Given the description of an element on the screen output the (x, y) to click on. 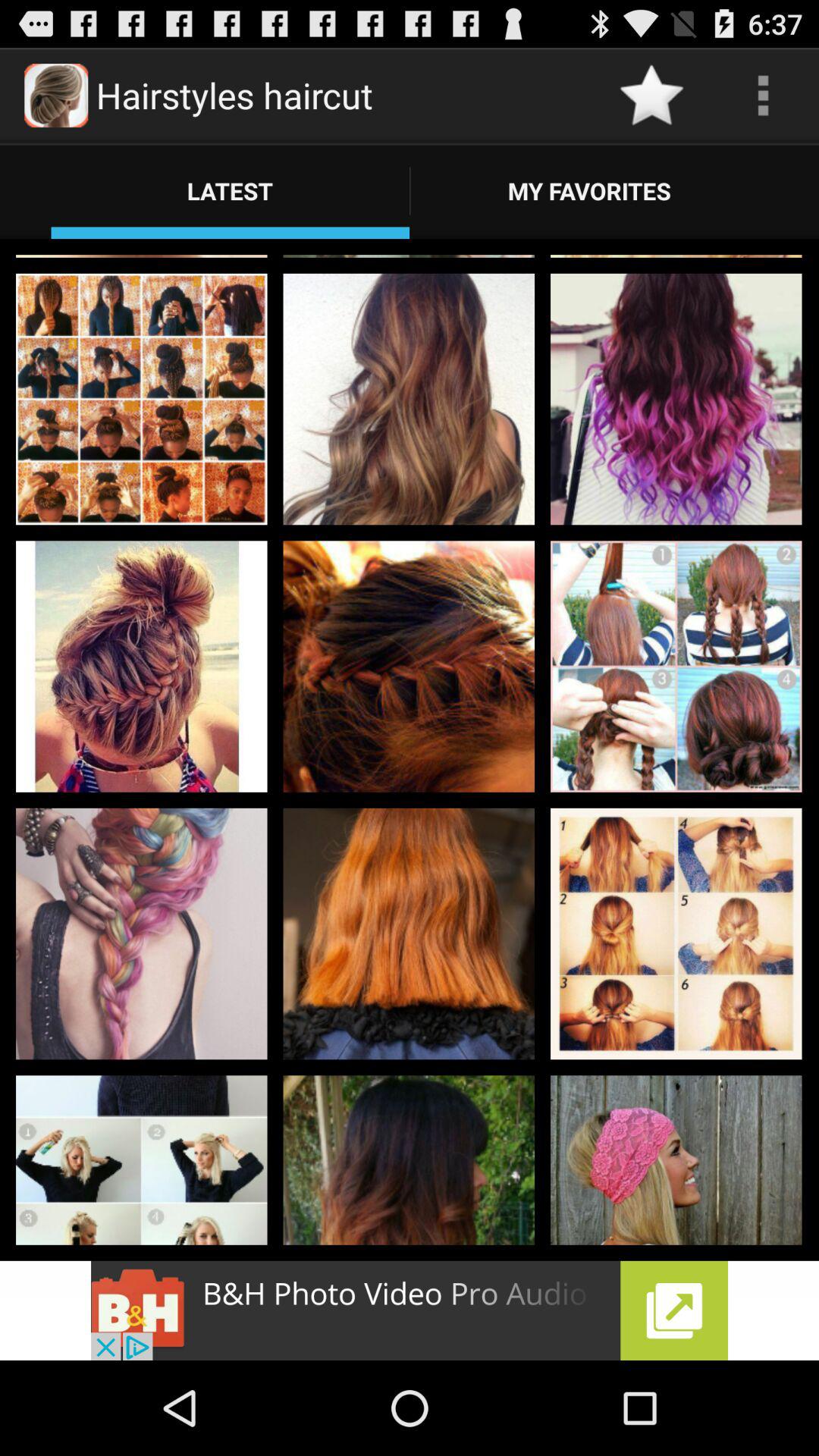
for setting (763, 95)
